Given the description of an element on the screen output the (x, y) to click on. 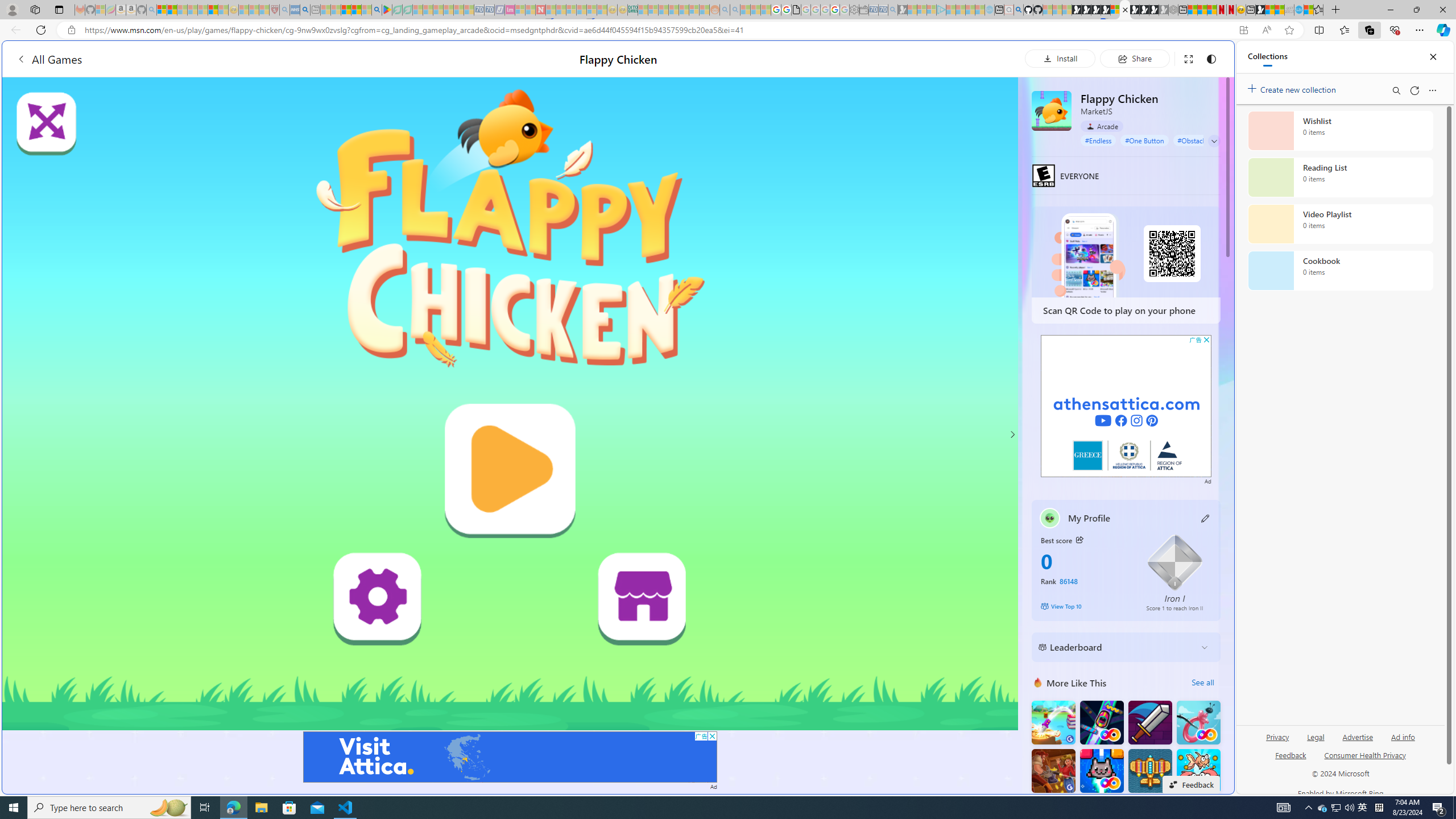
Kitten Force FRVR (1101, 770)
AutomationID: cbb (1206, 339)
